Given the description of an element on the screen output the (x, y) to click on. 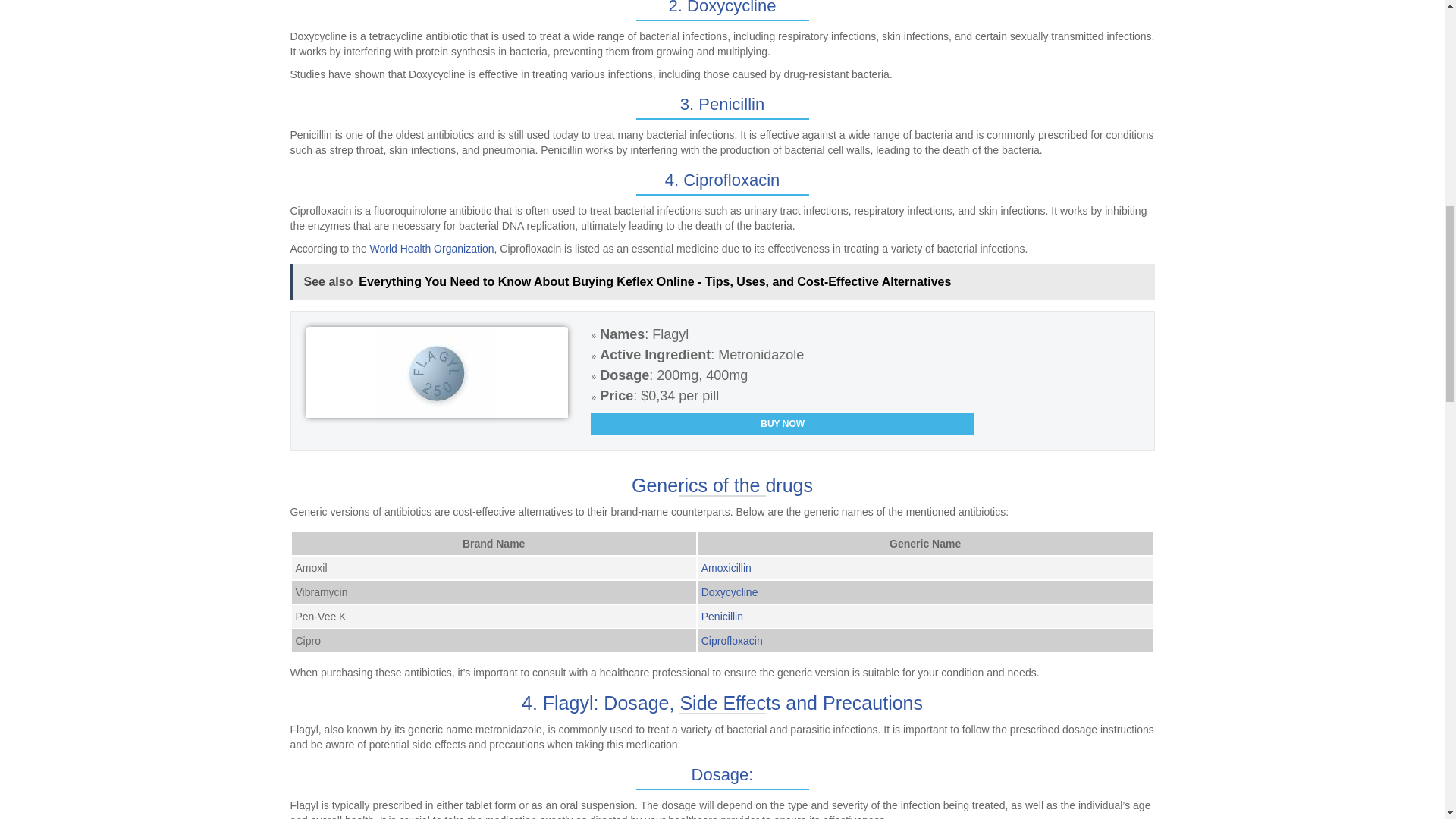
Penicillin (721, 616)
World Health Organization (432, 248)
BUY NOW (782, 423)
Ciprofloxacin (731, 640)
Buy Now (782, 423)
Amoxicillin (726, 567)
Doxycycline (729, 592)
